Given the description of an element on the screen output the (x, y) to click on. 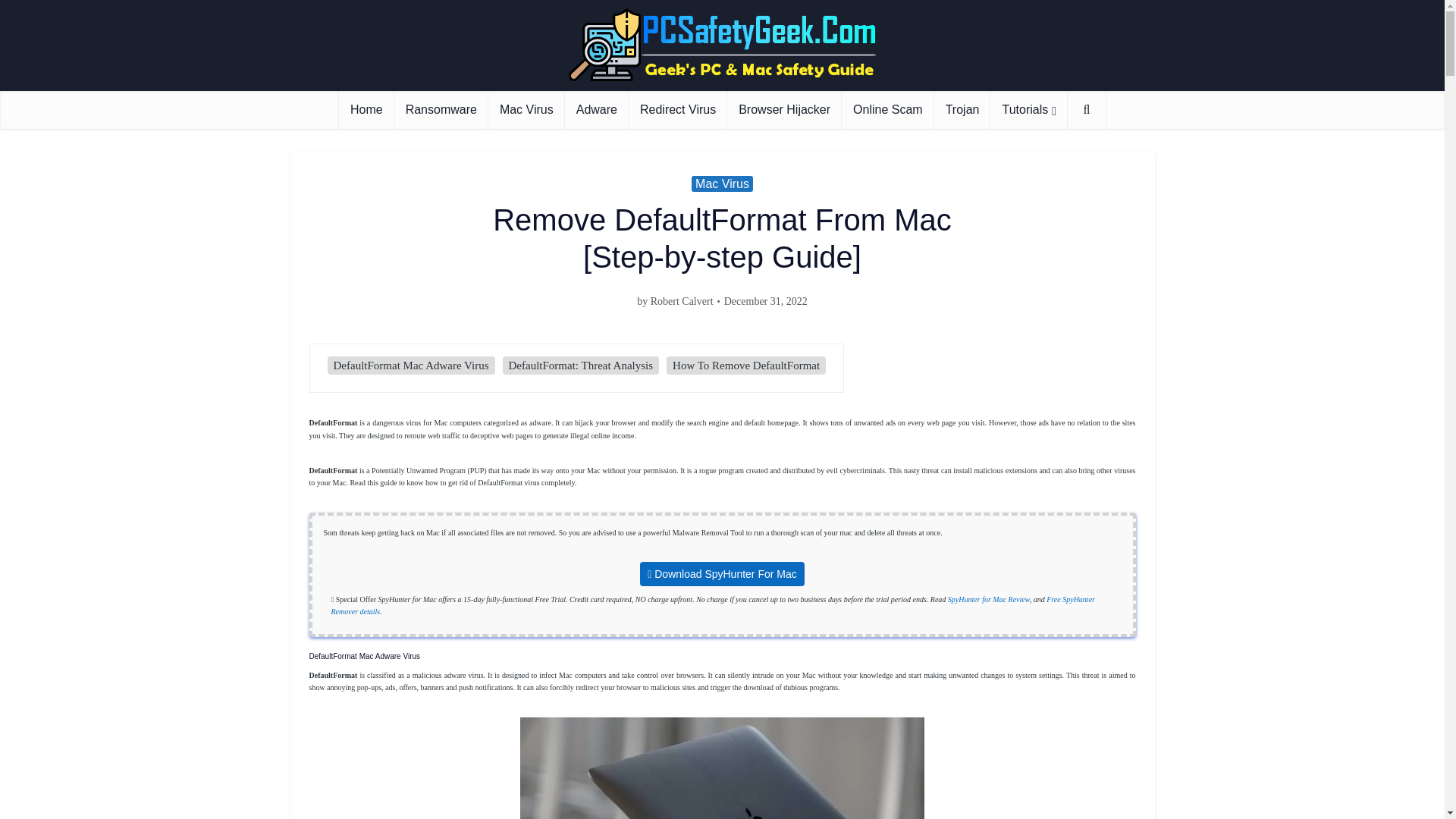
Free SpyHunter Remover details. (712, 605)
Mac Virus (721, 183)
Mac Virus (525, 109)
DefaultFormat: Threat Analysis (580, 365)
Redirect Virus (677, 109)
Ransomware (440, 109)
How To Remove DefaultFormat (745, 365)
Tutorials (1028, 109)
Robert Calvert (681, 301)
Download SpyHunter For Mac (722, 573)
